Given the description of an element on the screen output the (x, y) to click on. 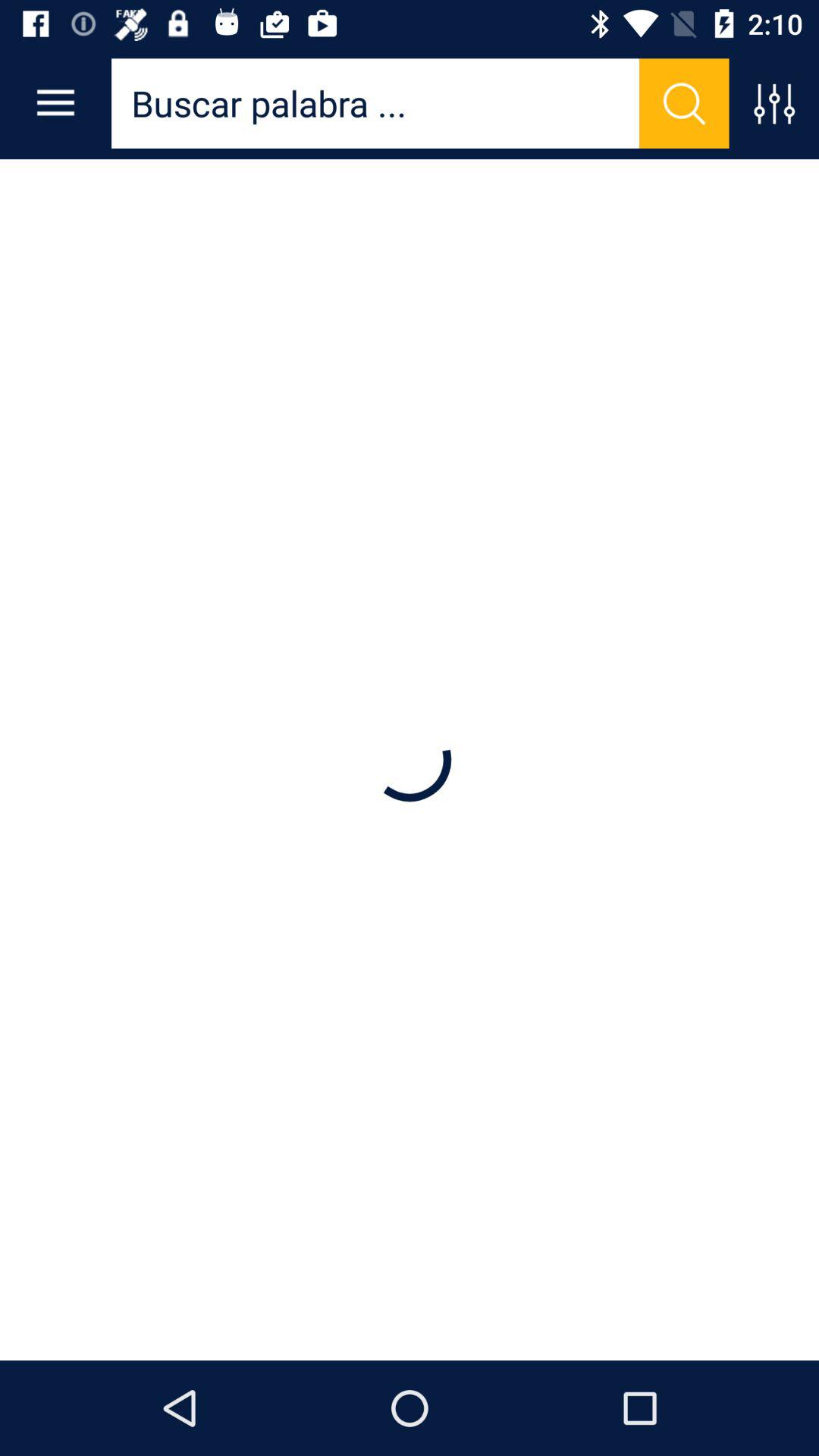
search typed query (684, 103)
